Given the description of an element on the screen output the (x, y) to click on. 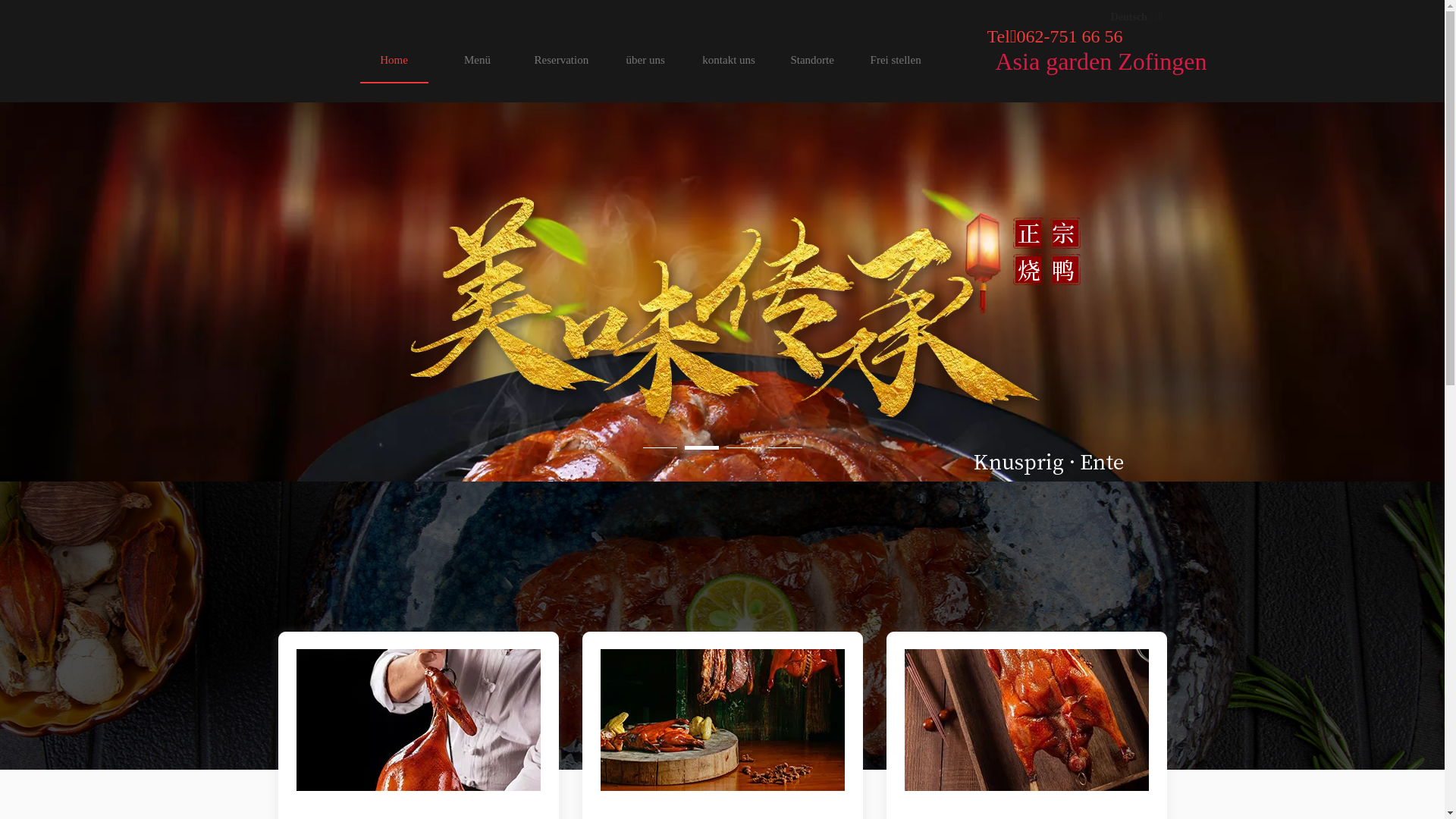
Home Element type: text (393, 59)
Deutsch Element type: text (1128, 16)
Home Element type: text (393, 59)
Reservation Element type: text (561, 59)
kontakt uns Element type: text (728, 59)
Standorte Element type: text (811, 59)
Standorte Element type: text (812, 59)
Frei stellen Element type: text (895, 59)
Frei stellen Element type: text (895, 59)
Reservation Element type: text (560, 59)
kontakt uns Element type: text (728, 59)
